Given the description of an element on the screen output the (x, y) to click on. 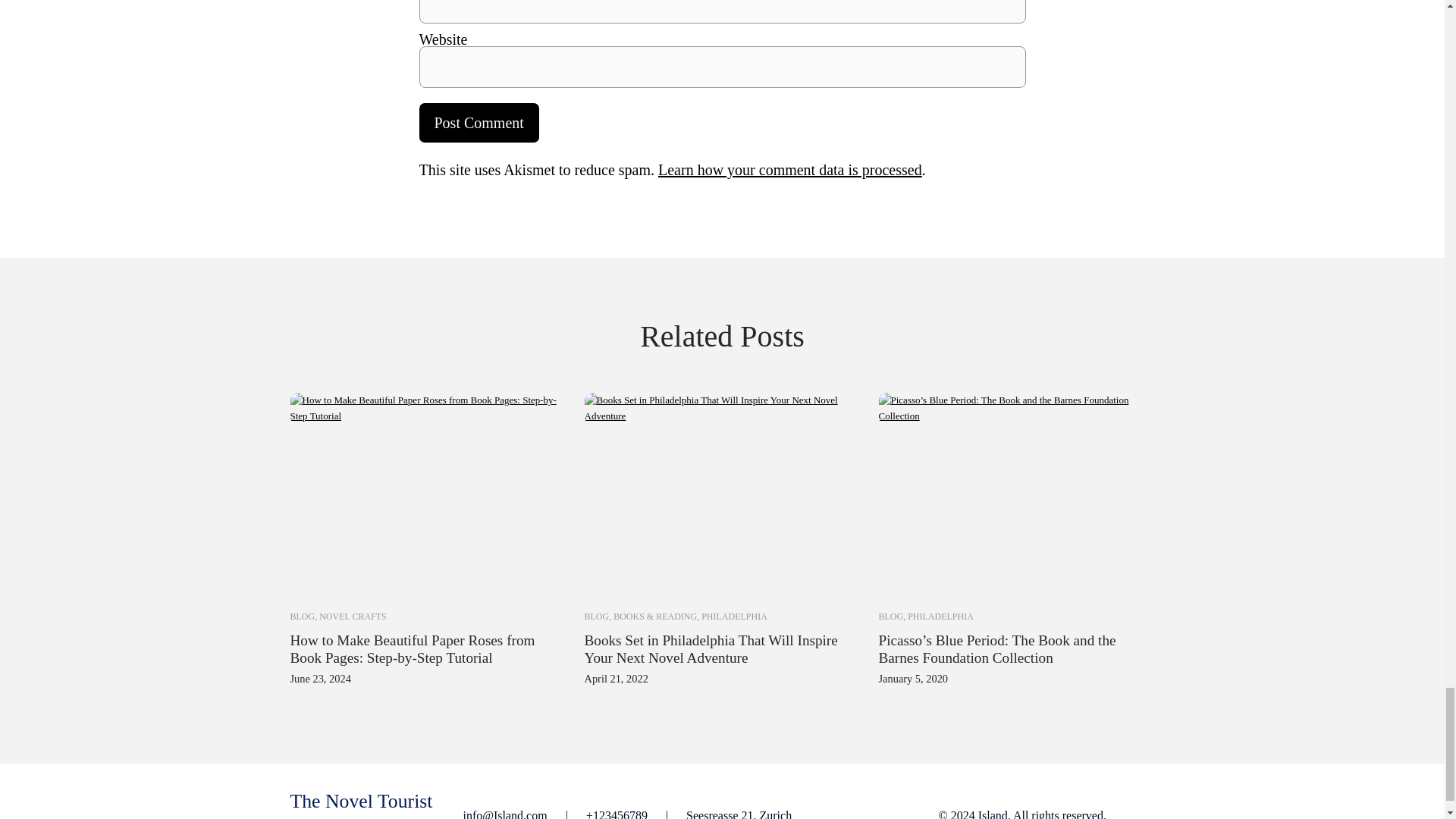
BLOG (595, 615)
Post Comment (478, 122)
NOVEL CRAFTS (352, 615)
PHILADELPHIA (940, 615)
PHILADELPHIA (734, 615)
The Novel Tourist Book Club (360, 804)
BLOG (889, 615)
Post Comment (478, 122)
BLOG (301, 615)
Learn how your comment data is processed (789, 169)
